Given the description of an element on the screen output the (x, y) to click on. 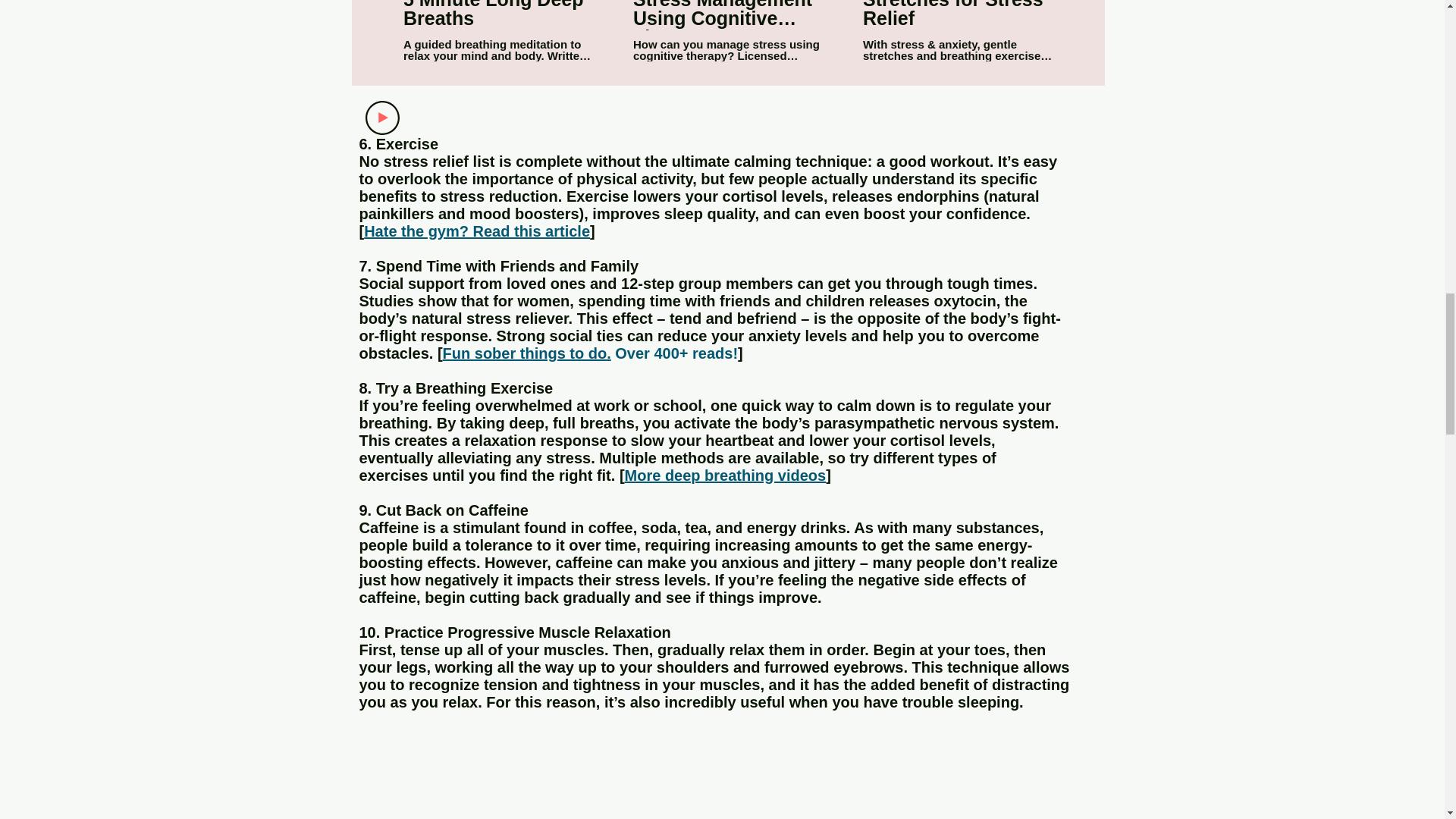
Stress Management Using Cognitive Therapy (726, 15)
Stretches for Stress Relief (957, 15)
5 Minute Long Deep Breaths (498, 15)
